Given the description of an element on the screen output the (x, y) to click on. 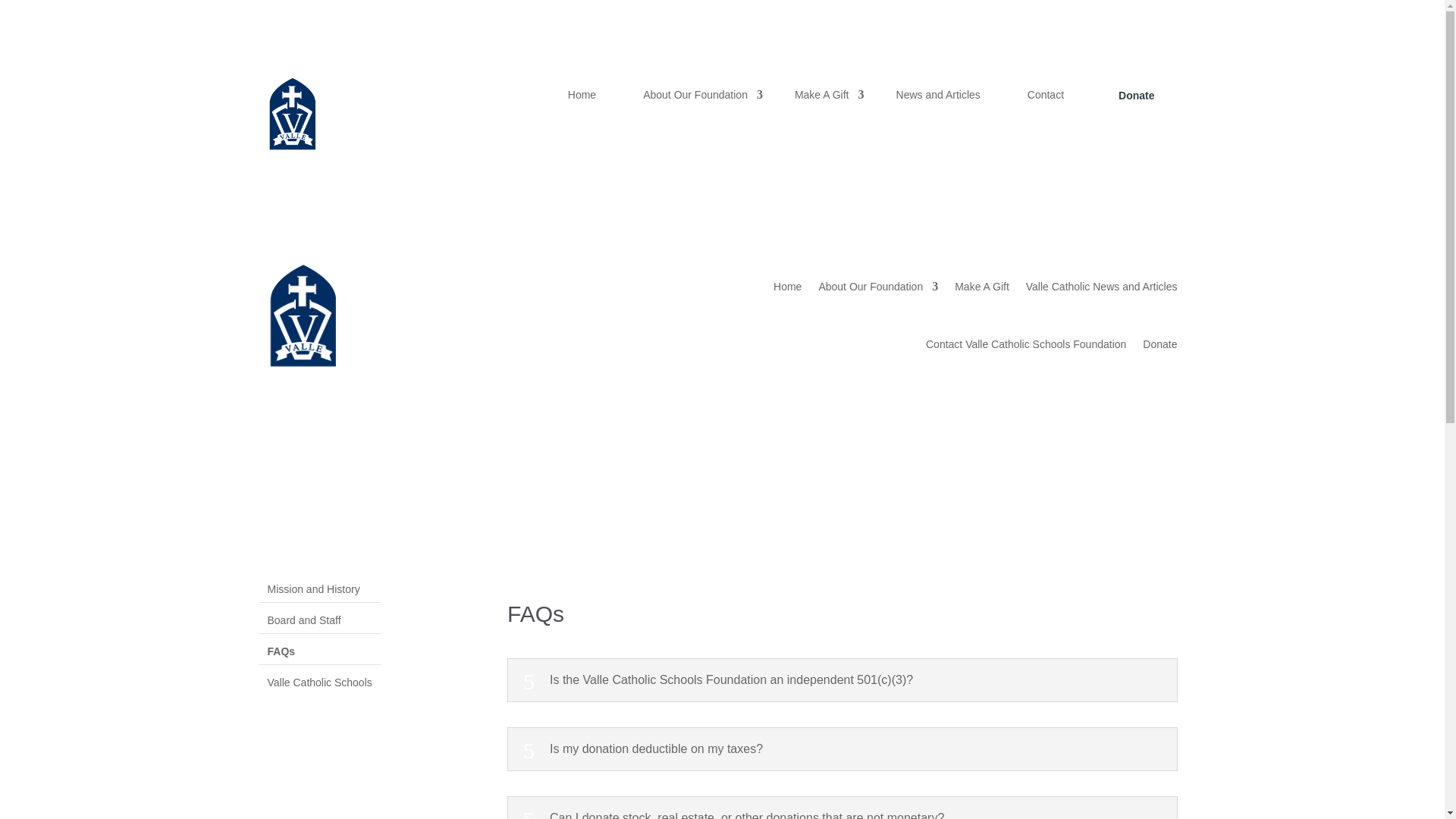
Contact Valle Catholic Schools Foundation (1025, 344)
Board and Staff (318, 617)
Mission and History (318, 586)
About Our Foundation (694, 94)
Donate (1136, 95)
Contact (1044, 94)
FAQs (318, 647)
Home (582, 94)
Make A Gift (982, 286)
About Our Foundation (877, 286)
